Given the description of an element on the screen output the (x, y) to click on. 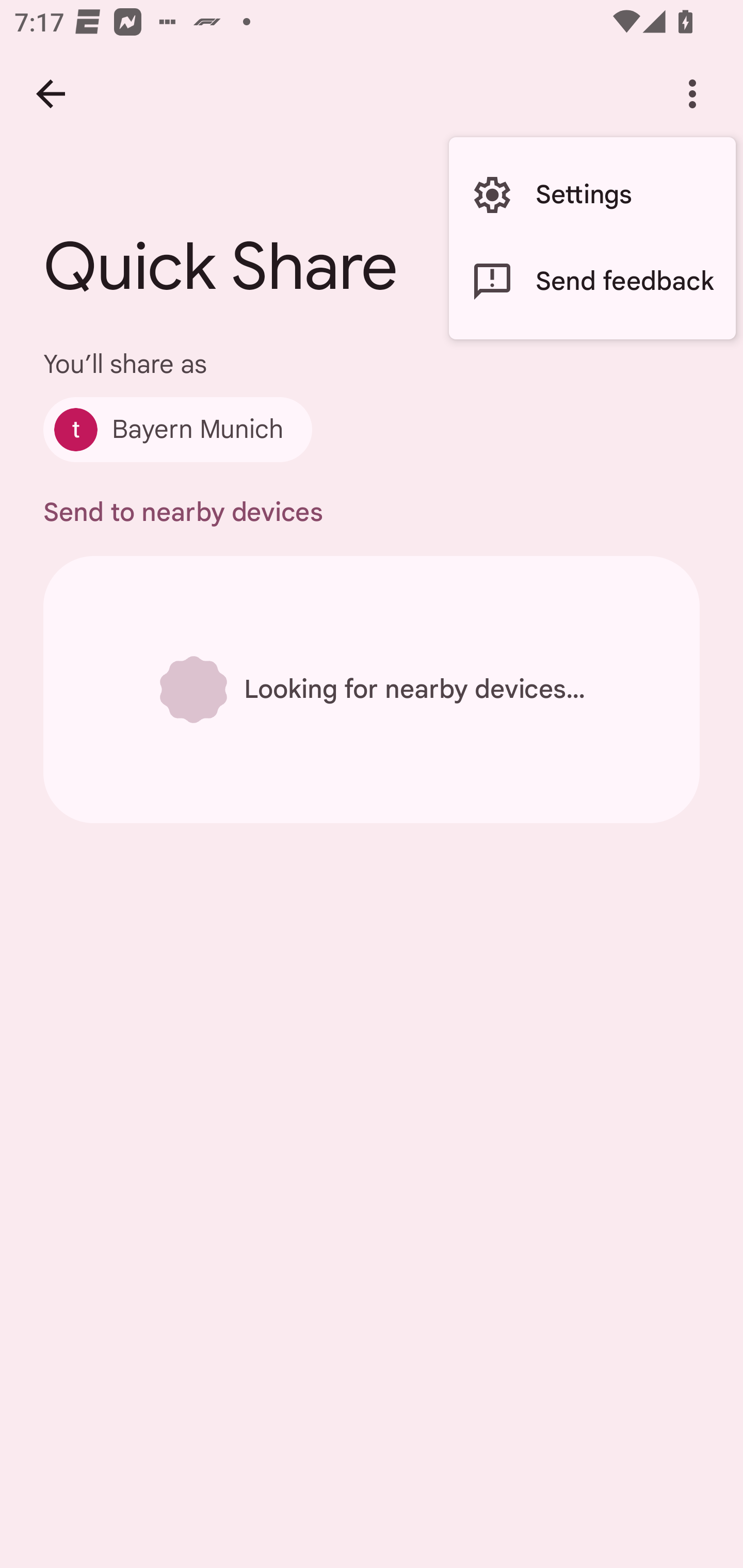
Settings (591, 195)
Send feedback (591, 281)
